Given the description of an element on the screen output the (x, y) to click on. 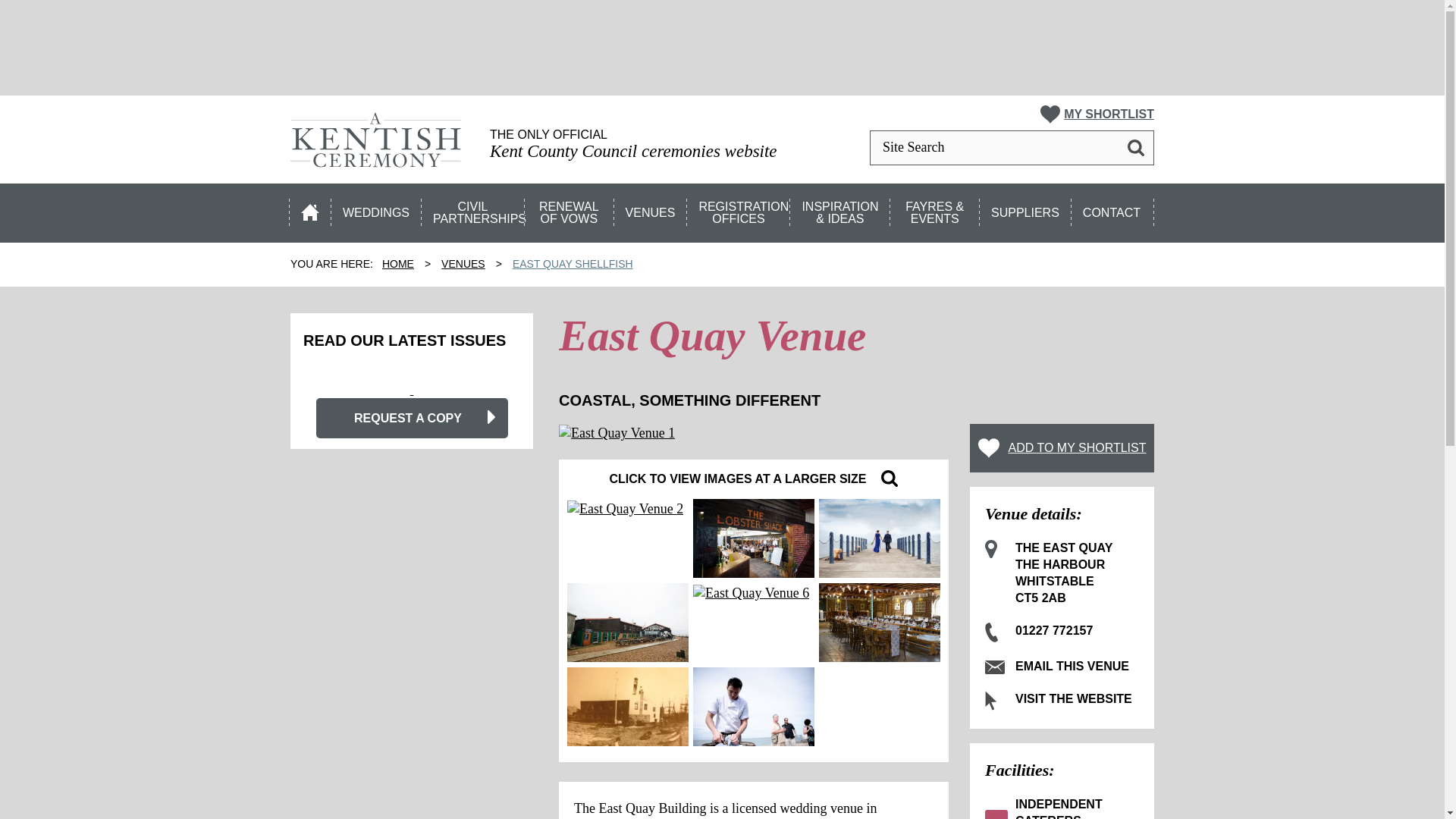
CIVIL PARTNERSHIPS (473, 209)
RENEWAL OF VOWS (569, 209)
VENUES (651, 209)
REGISTRATION OFFICES (738, 209)
WEDDINGS (376, 209)
MY SHORTLIST (1097, 114)
CONTACT (1112, 209)
SUPPLIERS (1025, 209)
A Kentish Ceremony Summer issue 2024 (411, 389)
Home (310, 209)
